Given the description of an element on the screen output the (x, y) to click on. 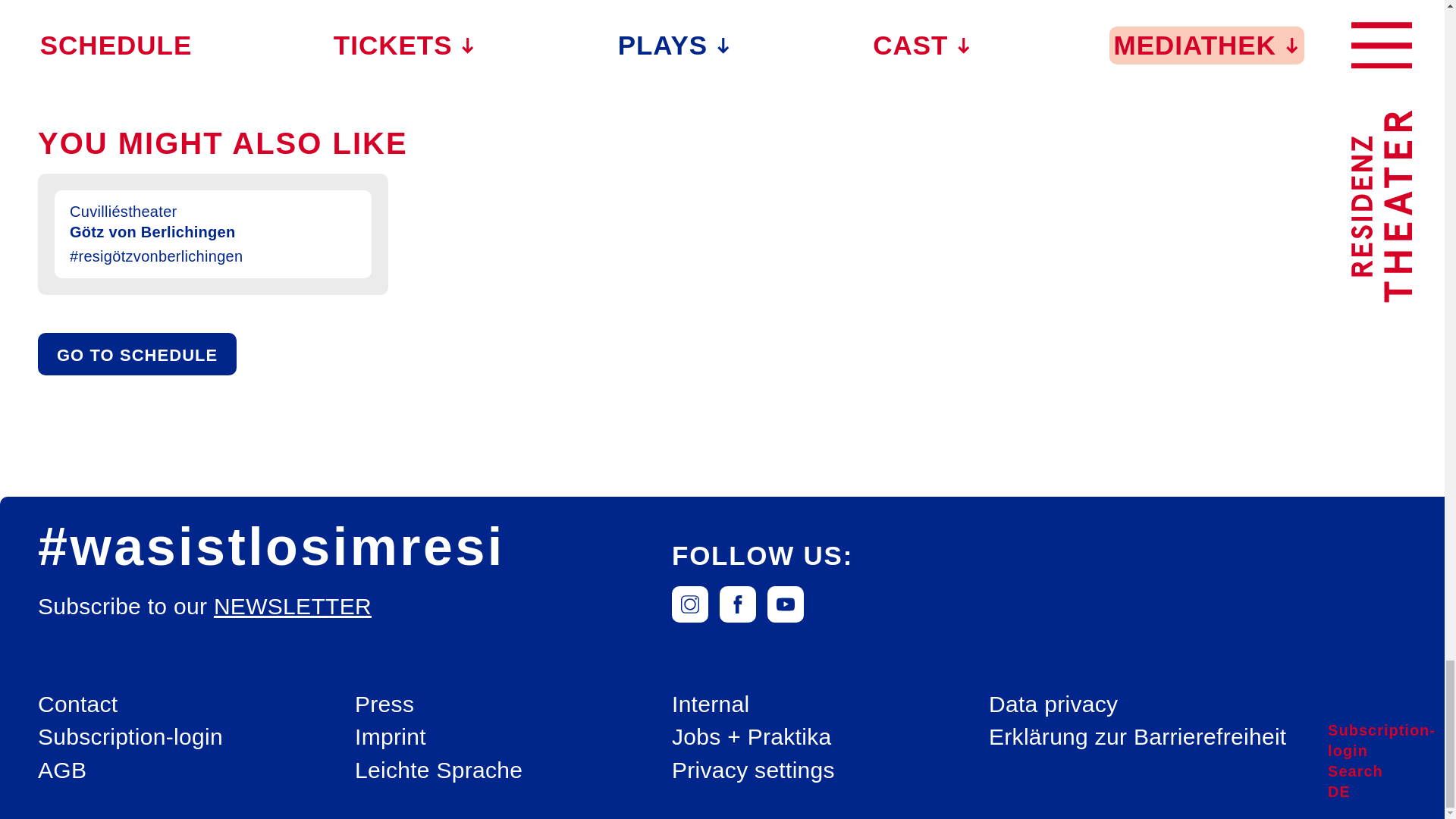
Press (384, 704)
Data privacy (1053, 704)
Internal (710, 704)
Contact (77, 704)
AGB (61, 770)
Imprint (390, 736)
Leichte Sprache (438, 770)
Subscription-login (129, 736)
